Given the description of an element on the screen output the (x, y) to click on. 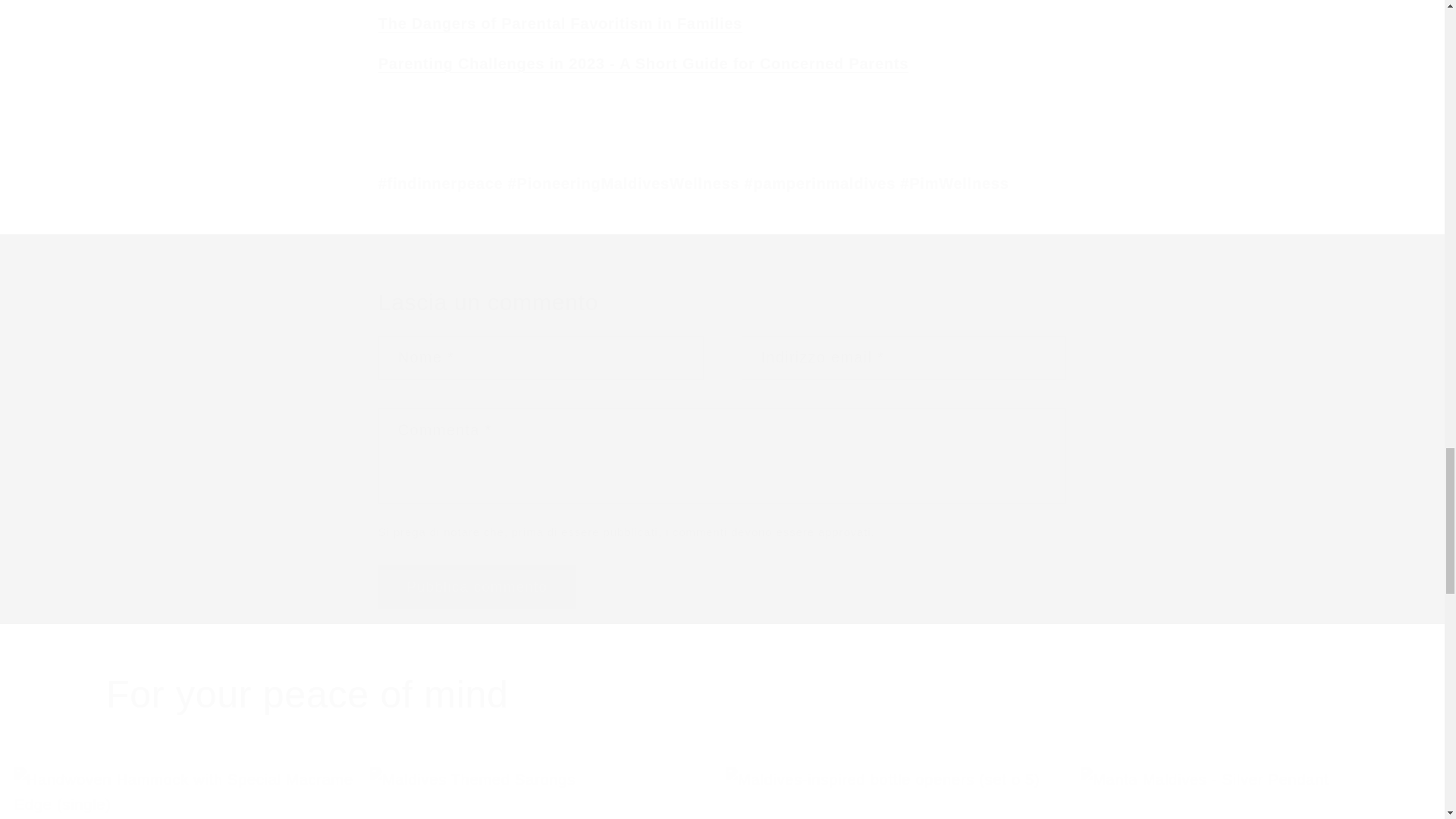
favorite child (560, 23)
Pubblica commento (477, 587)
For your peace of mind (722, 694)
parenting (643, 63)
